Given the description of an element on the screen output the (x, y) to click on. 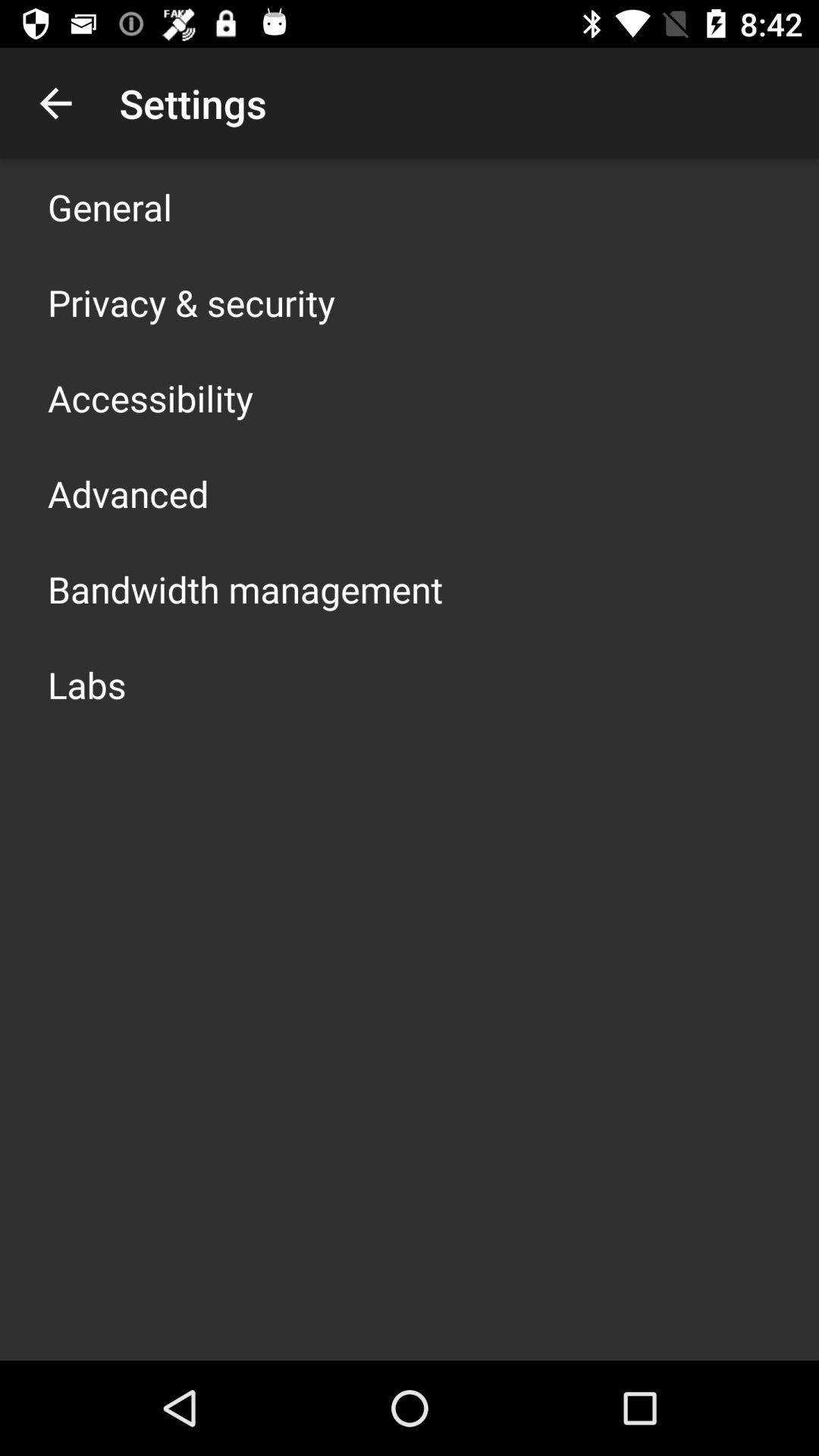
scroll until labs icon (86, 684)
